Given the description of an element on the screen output the (x, y) to click on. 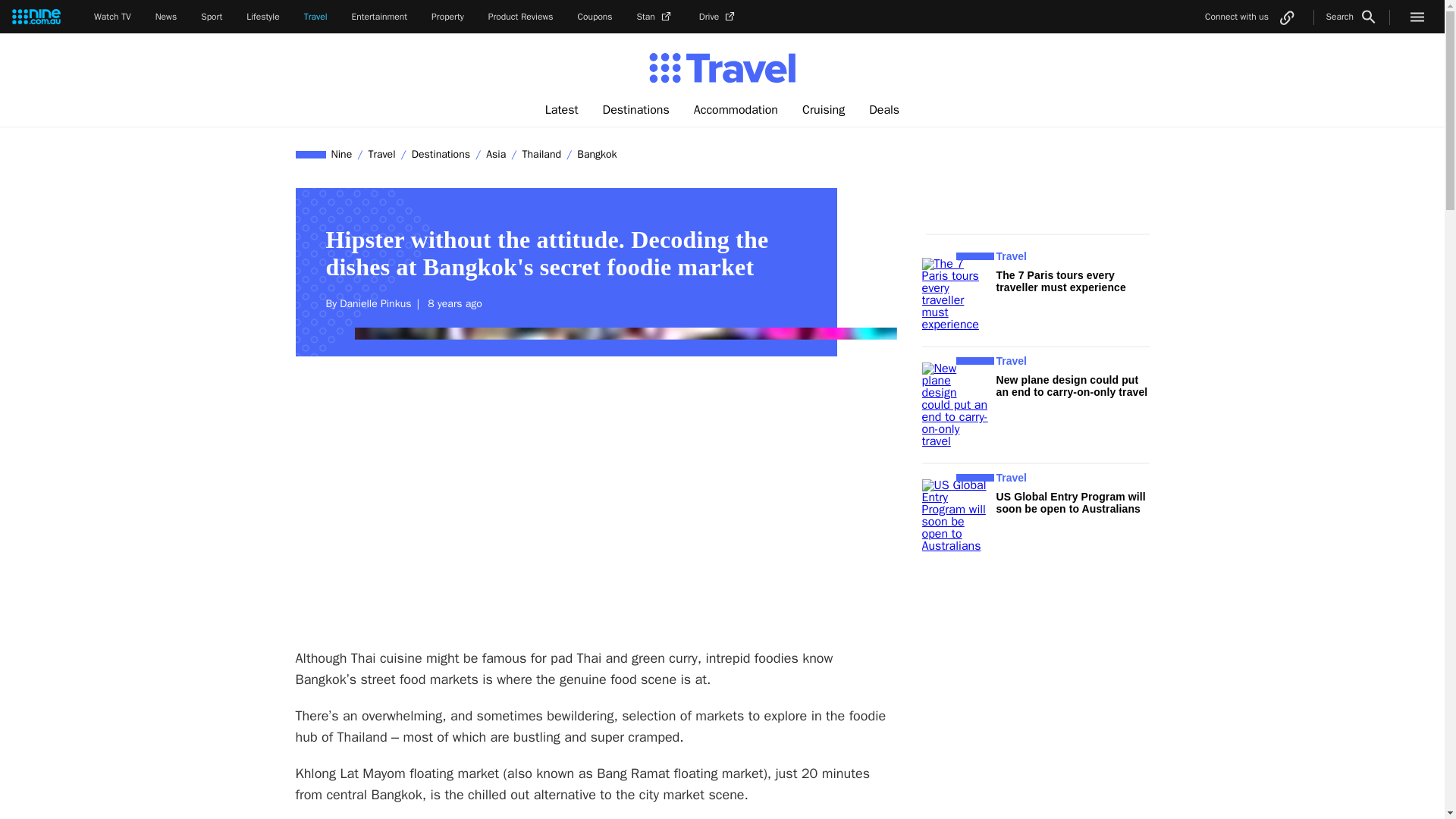
Lifestyle (262, 16)
Drive (718, 16)
2016-06-10 03:03 (451, 303)
Asia (495, 154)
Thailand (541, 154)
Entertainment (379, 16)
Cruising (823, 109)
Coupons (595, 16)
Watch TV (112, 16)
Stan (656, 16)
Product Reviews (520, 16)
Property (447, 16)
Destinations (636, 109)
Travel (381, 154)
Deals (884, 109)
